Given the description of an element on the screen output the (x, y) to click on. 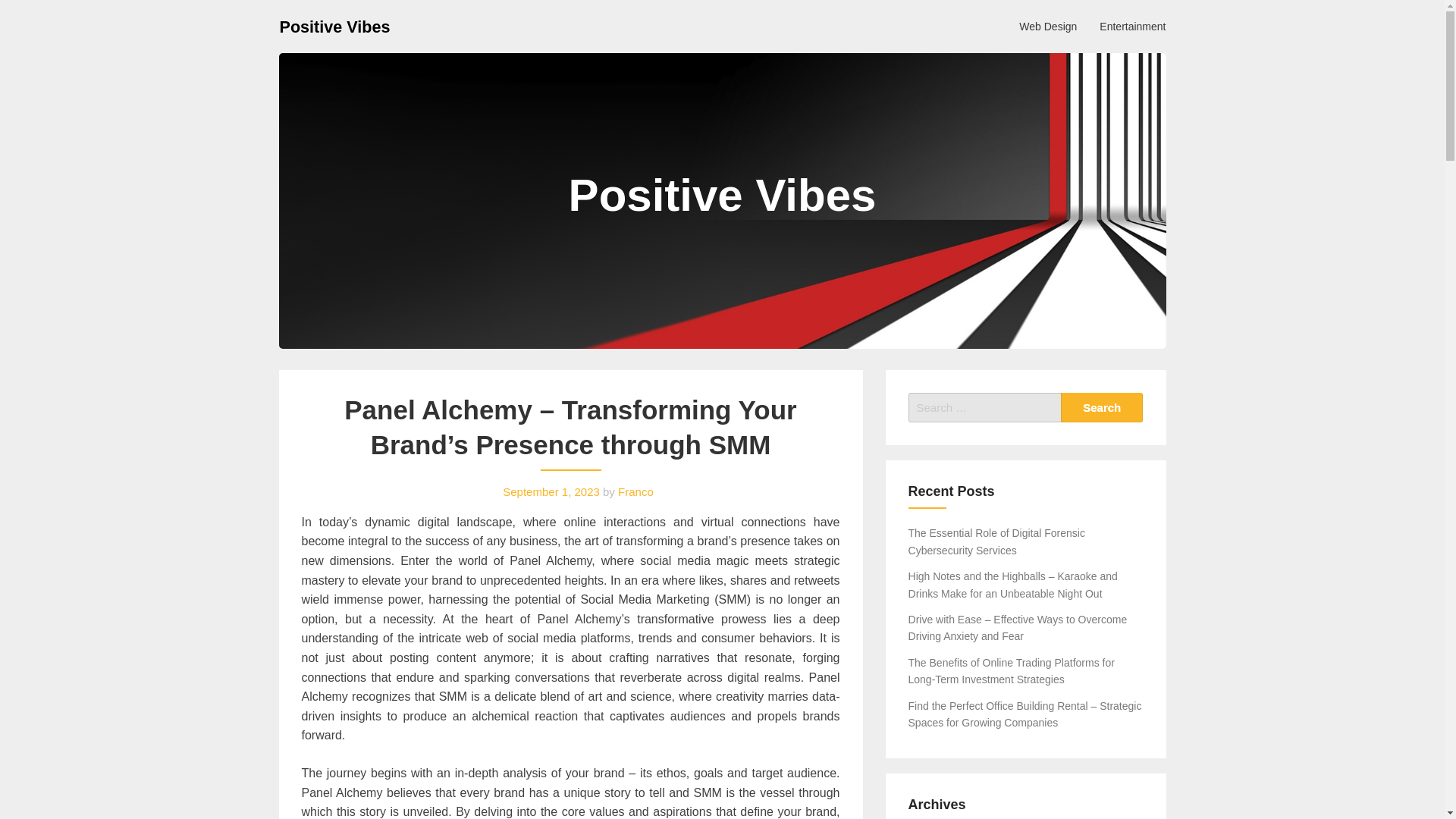
Positive Vibes (334, 26)
Search (1101, 407)
Search (1101, 407)
September 1, 2023 (550, 491)
Search (1101, 407)
Web Design (1047, 26)
Entertainment (1131, 26)
